Given the description of an element on the screen output the (x, y) to click on. 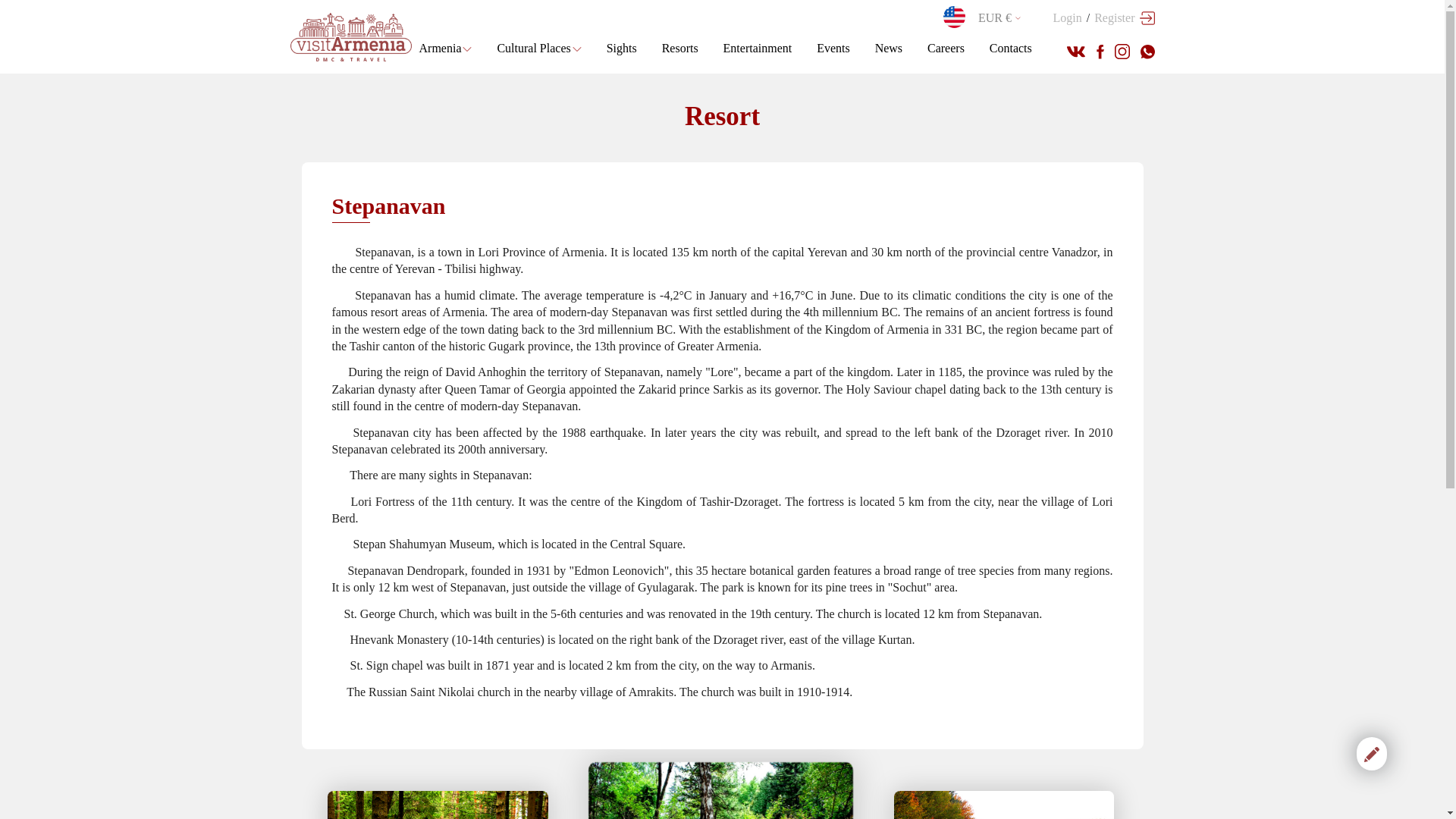
Resorts (680, 48)
Entertainment (757, 48)
Register (1113, 17)
Armenia (445, 48)
Careers (945, 48)
Login (1067, 17)
Contacts (1011, 48)
Cultural Places (538, 48)
